Given the description of an element on the screen output the (x, y) to click on. 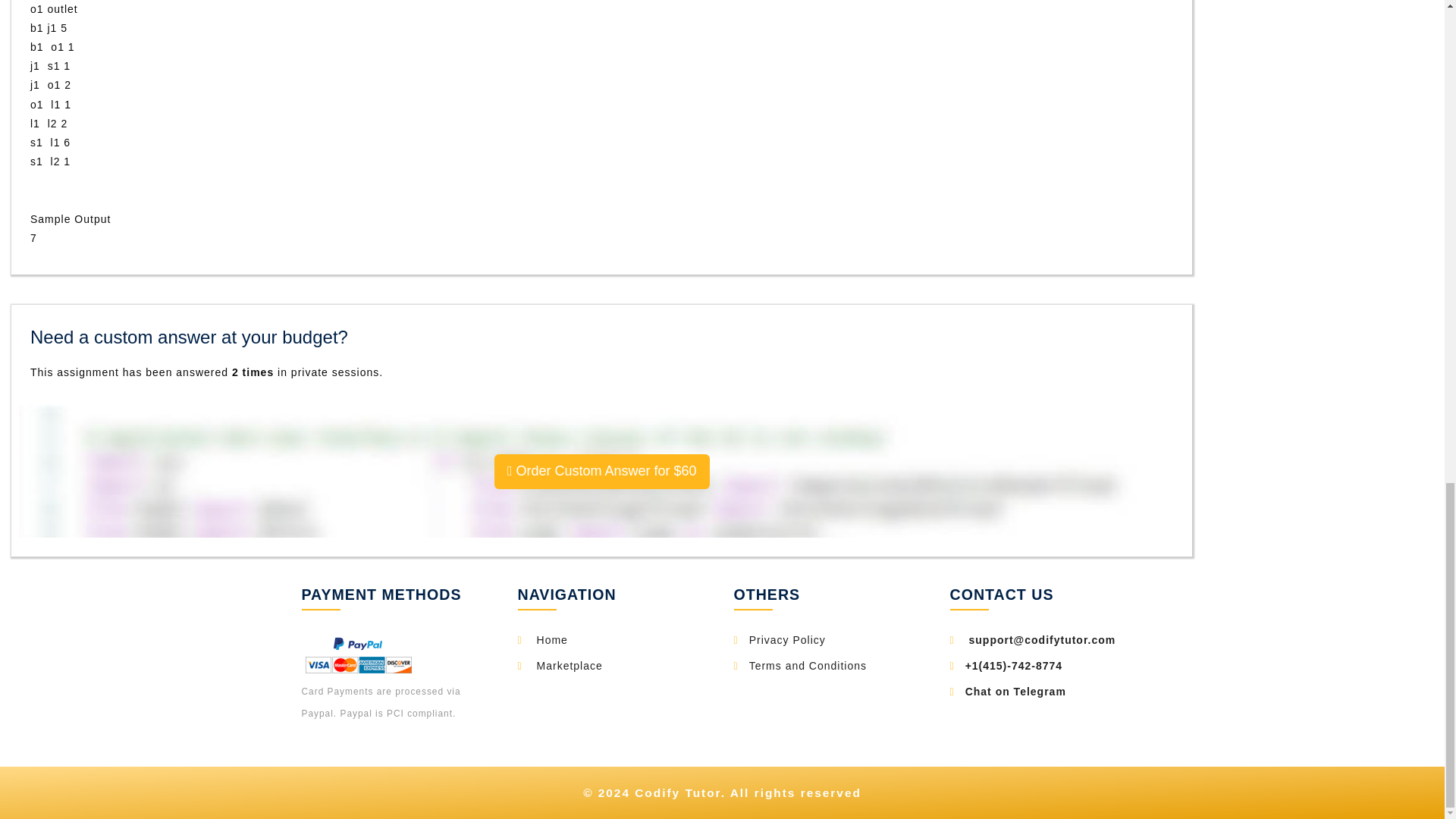
Terms and Conditions (807, 665)
Chat on Telegram (1015, 691)
Privacy Policy (787, 639)
Home (552, 639)
Marketplace (569, 665)
Marketplace (569, 665)
